Given the description of an element on the screen output the (x, y) to click on. 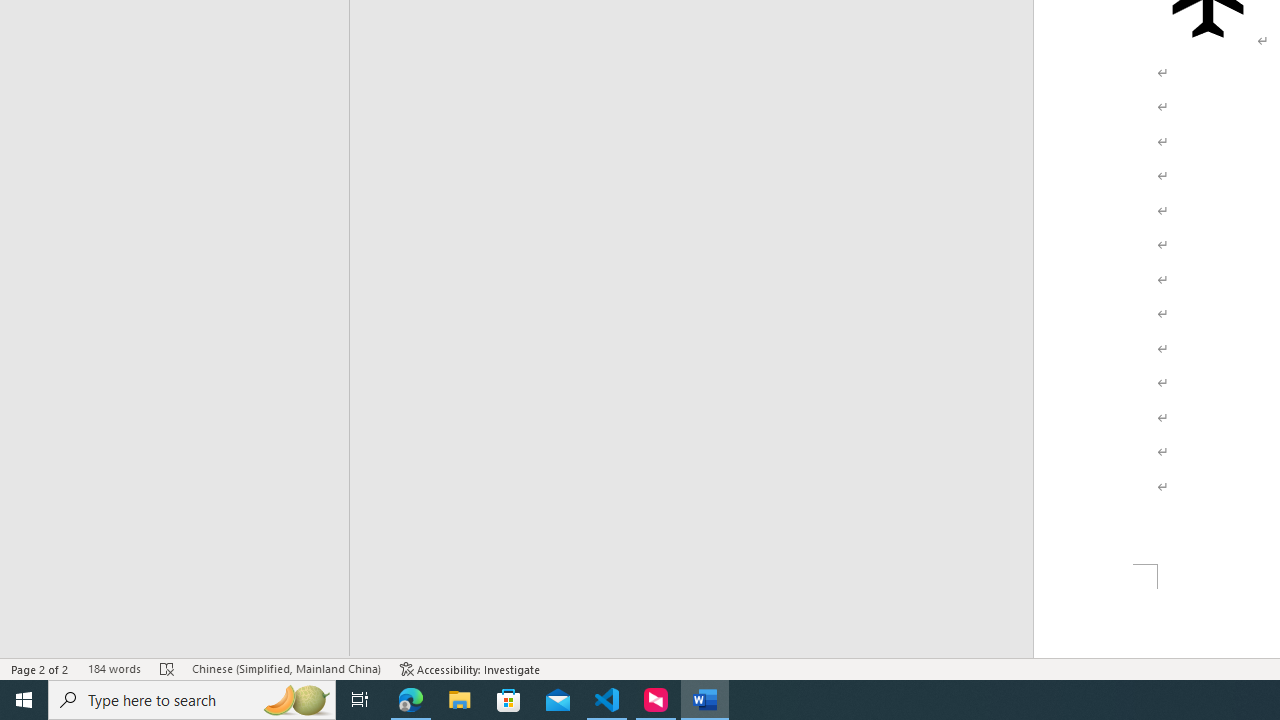
Word Count 184 words (113, 668)
Page Number Page 2 of 2 (39, 668)
